Given the description of an element on the screen output the (x, y) to click on. 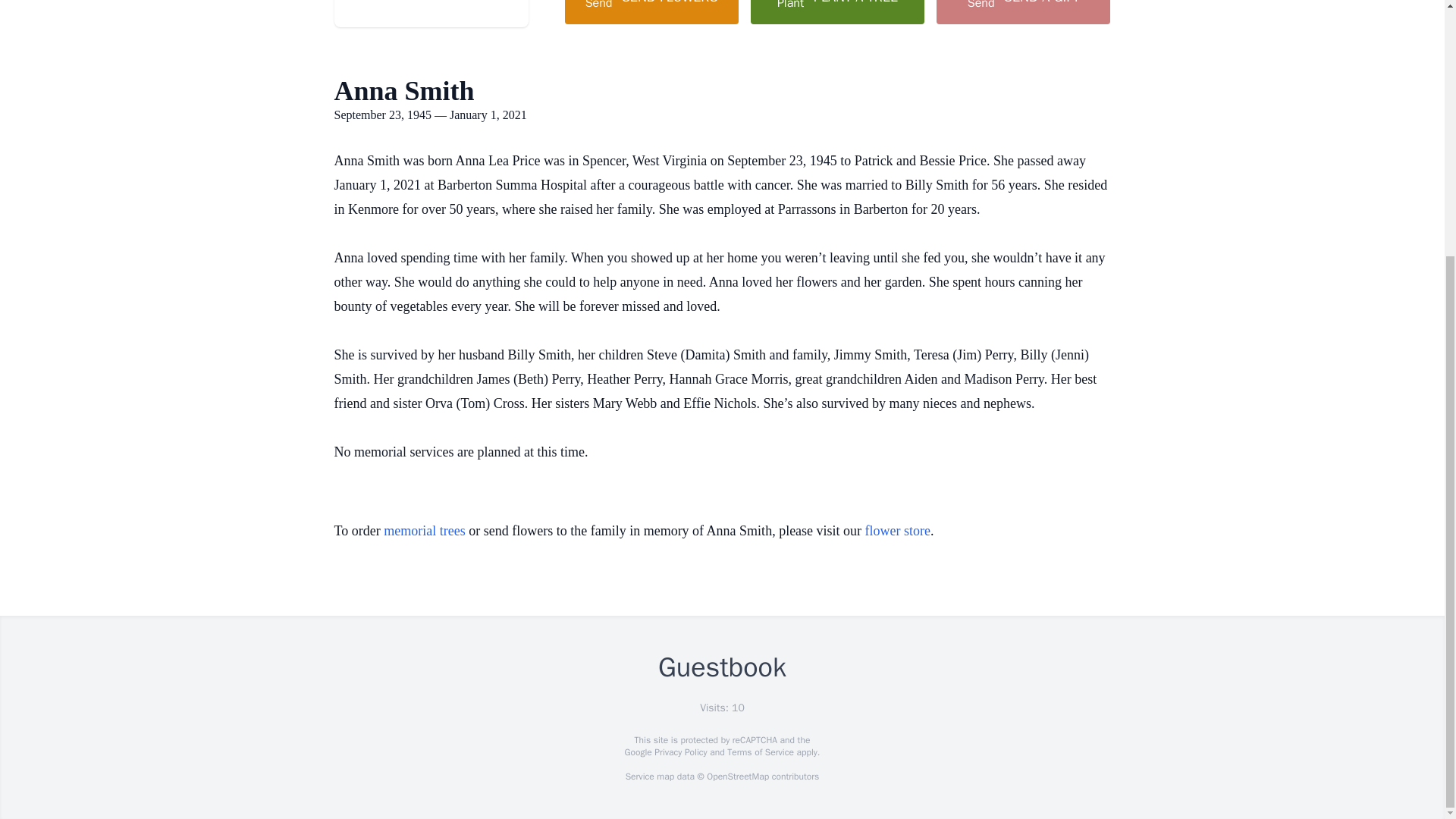
OpenStreetMap (737, 776)
Privacy Policy (679, 752)
memorial trees (424, 530)
Terms of Service (759, 752)
flower store (897, 530)
SEND FLOWERS (651, 12)
SEND A GIFT (1022, 12)
PLANT A TREE (837, 12)
